Given the description of an element on the screen output the (x, y) to click on. 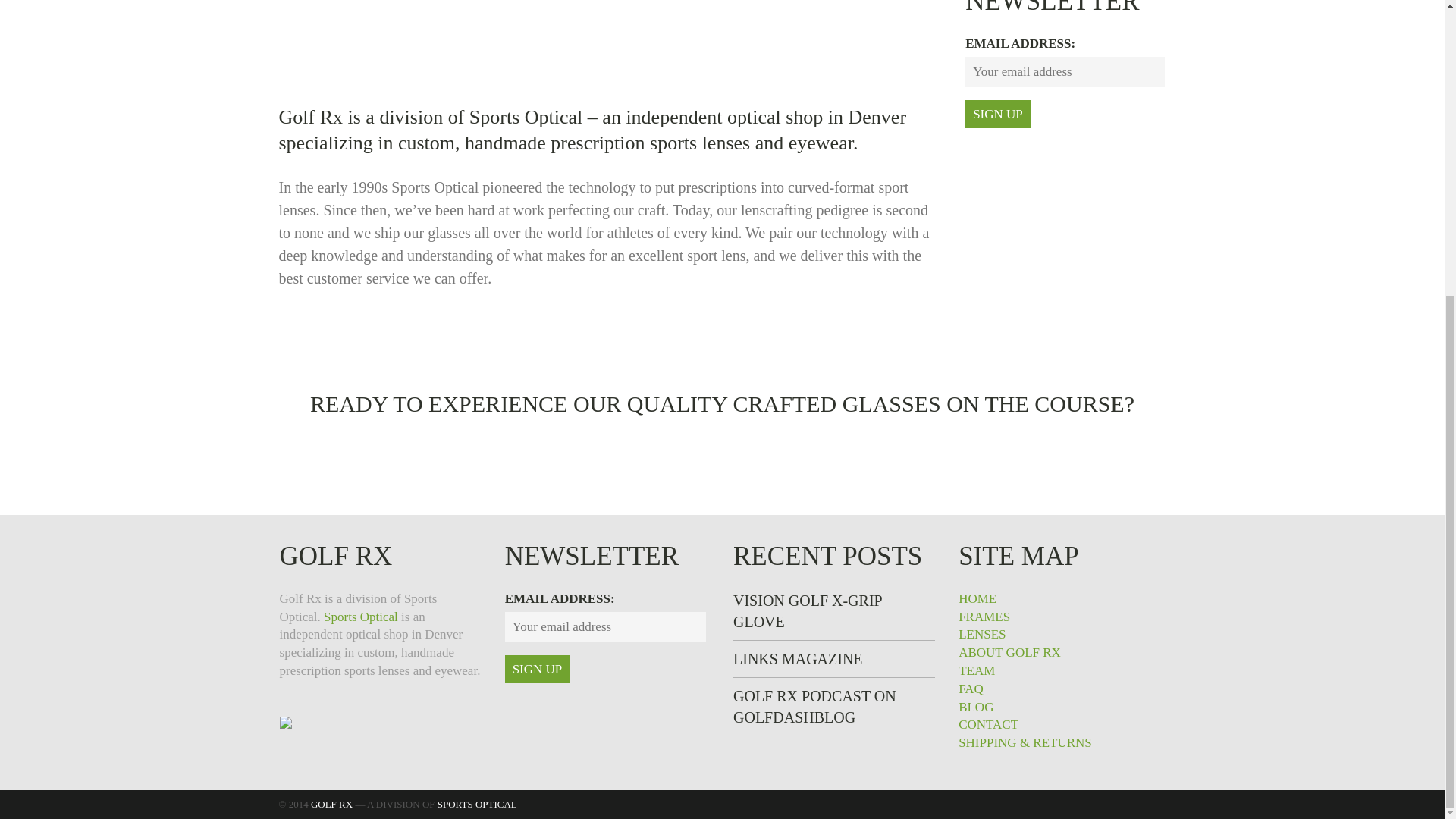
FAQ (971, 688)
Sign up (997, 113)
GOLF RX PODCAST ON GOLFDASHBLOG (814, 706)
Sign up (997, 113)
LENSES (982, 634)
VISION GOLF X-GRIP GLOVE (807, 610)
Sports Optical (360, 616)
Sign up (537, 669)
ABOUT GOLF RX (1009, 652)
LINKS MAGAZINE (798, 658)
FRAMES (984, 616)
Sports Optical (525, 116)
Sign up (537, 669)
HOME (976, 598)
TEAM (976, 670)
